Given the description of an element on the screen output the (x, y) to click on. 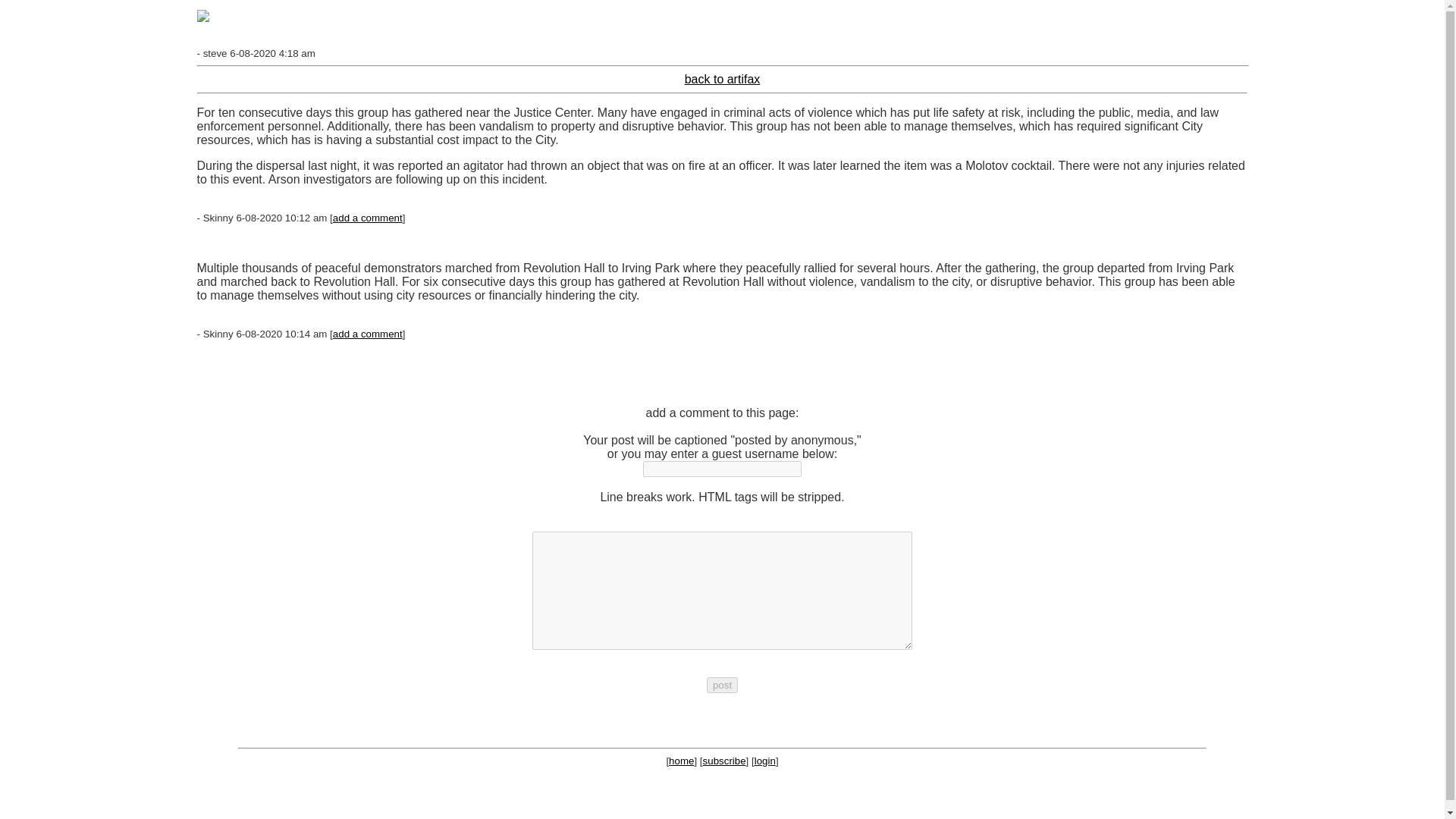
home (681, 760)
add a comment (368, 333)
post (722, 684)
back to artifax (722, 78)
subscribe (724, 760)
login (765, 760)
add a comment (368, 217)
post (722, 684)
